Given the description of an element on the screen output the (x, y) to click on. 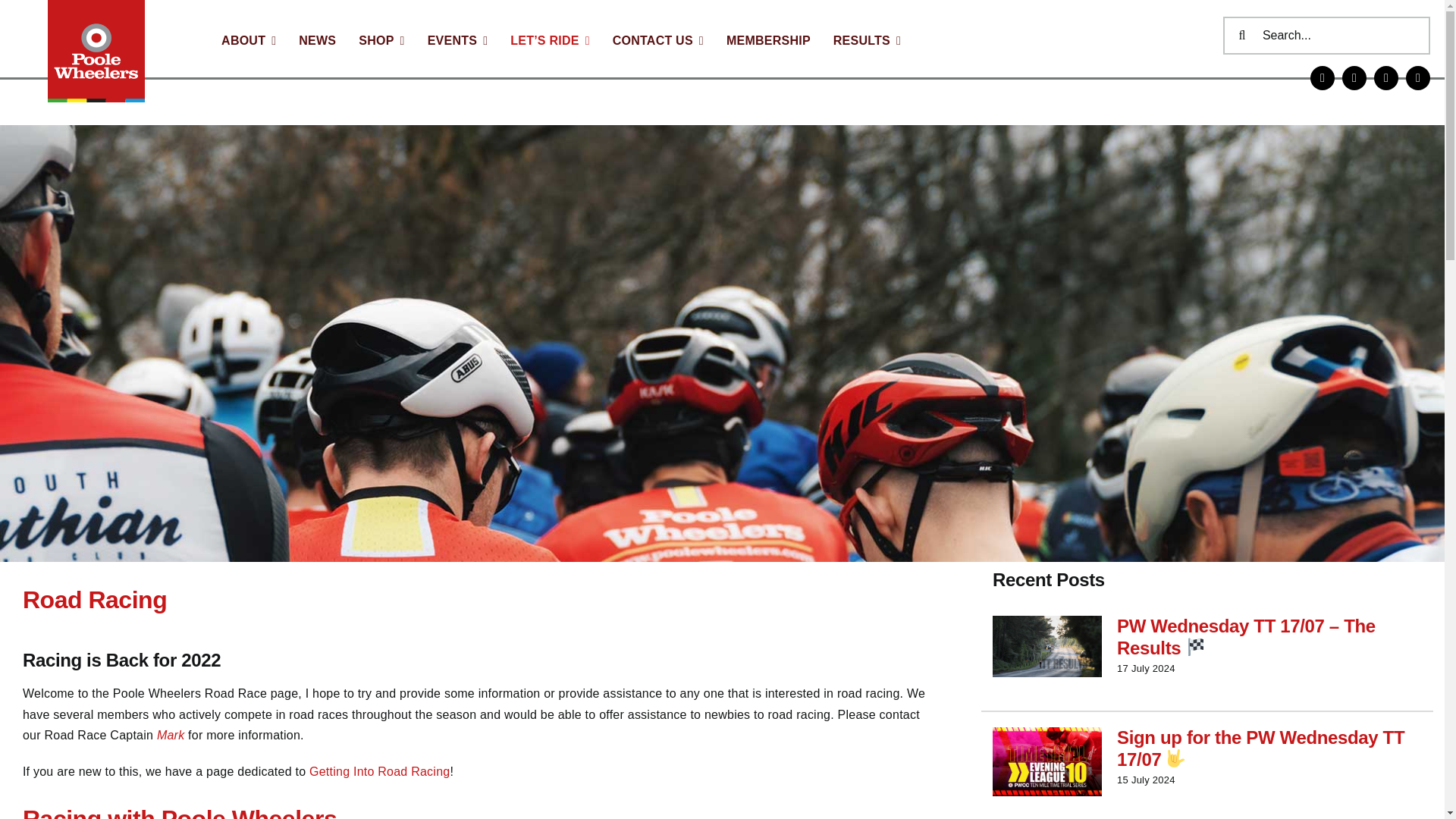
RESULTS (866, 40)
EVENTS (457, 40)
SHOP (381, 40)
Facebook (1385, 78)
MEMBERSHIP (768, 40)
NEWS (317, 40)
ABOUT (248, 40)
CONTACT US (657, 40)
Instagram (1354, 78)
YouTube (1417, 78)
Strava (1322, 78)
